Given the description of an element on the screen output the (x, y) to click on. 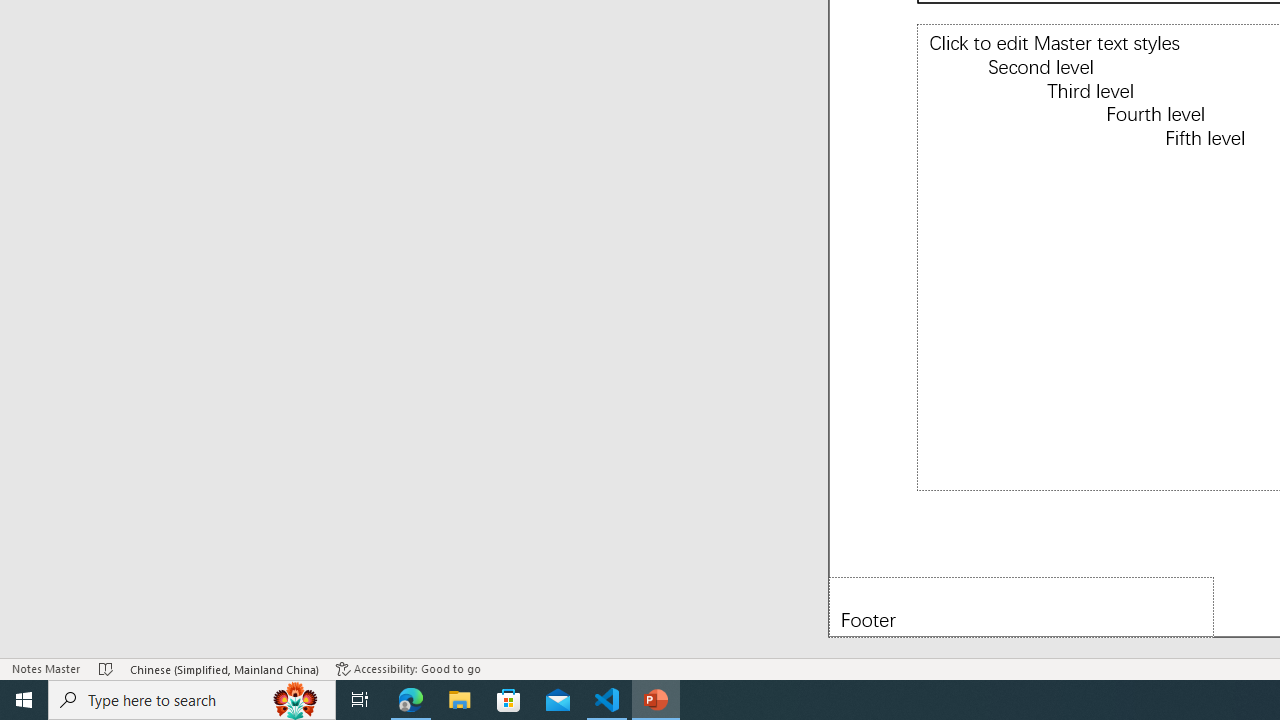
Footer (1021, 606)
Accessibility Checker Accessibility: Good to go (407, 668)
